Given the description of an element on the screen output the (x, y) to click on. 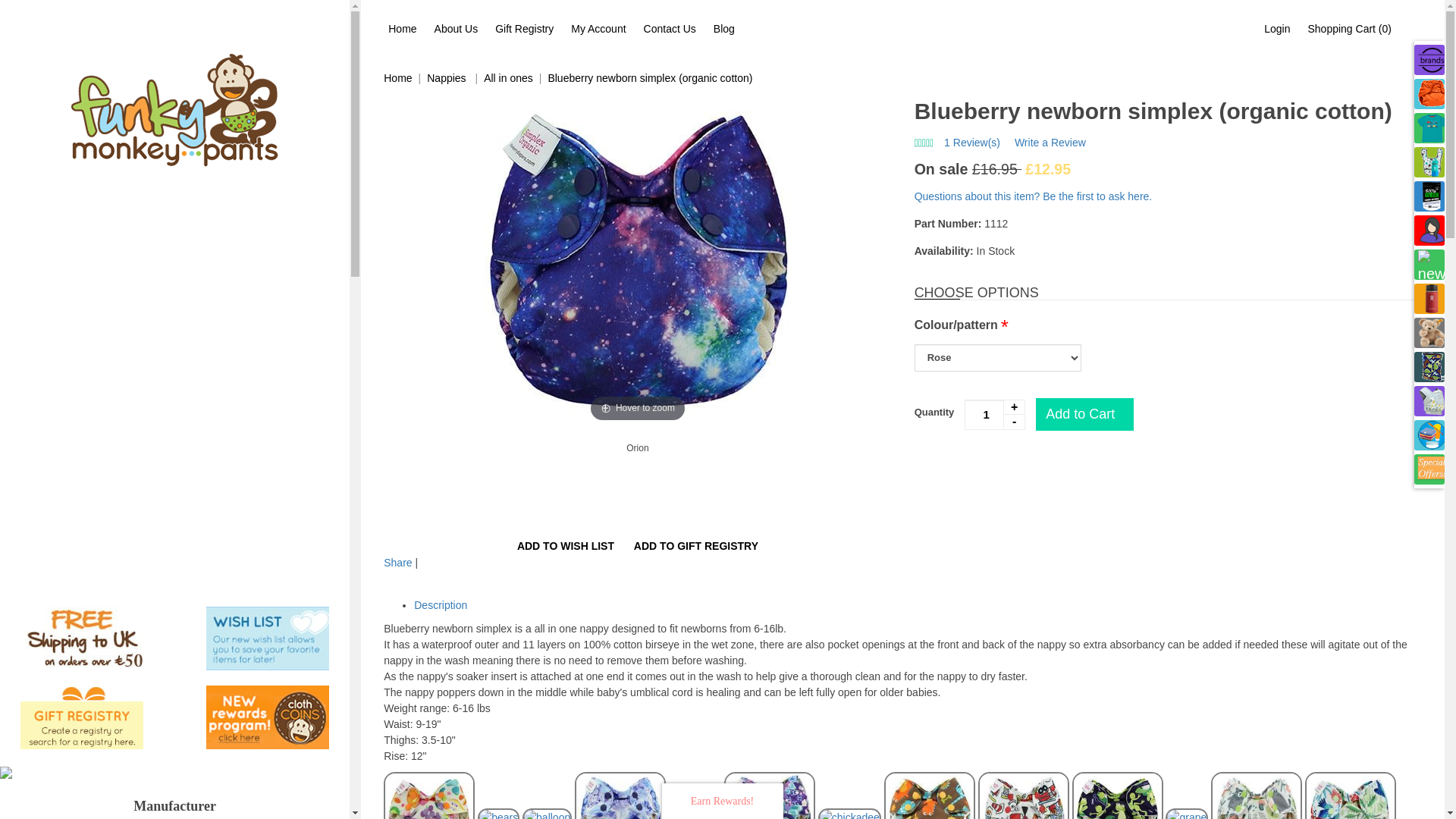
Gift Registry (523, 28)
Contact Us (669, 28)
Orion  (637, 448)
Blog (724, 28)
About Us (456, 28)
My Account (598, 28)
1 (994, 414)
Home (402, 28)
Login (1276, 28)
